Given the description of an element on the screen output the (x, y) to click on. 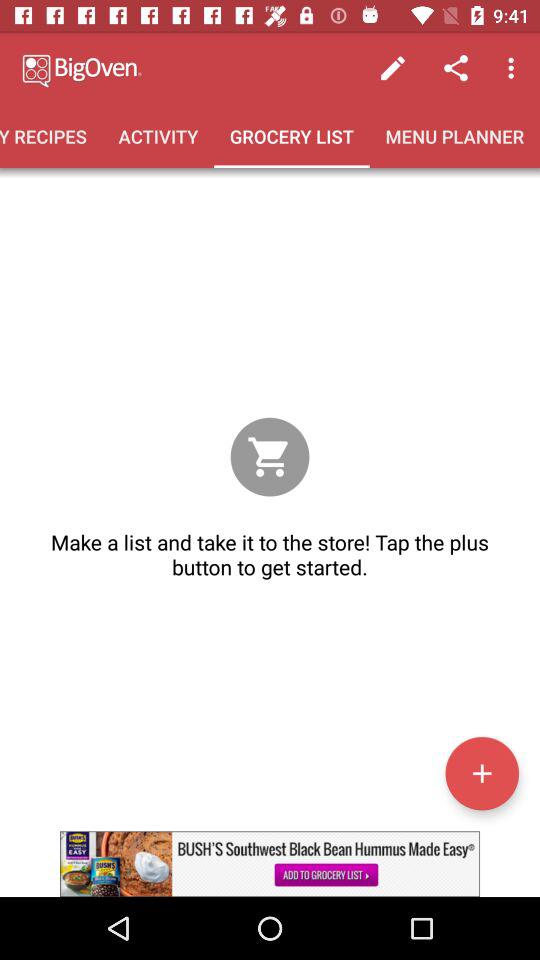
view advertisement (270, 864)
